Given the description of an element on the screen output the (x, y) to click on. 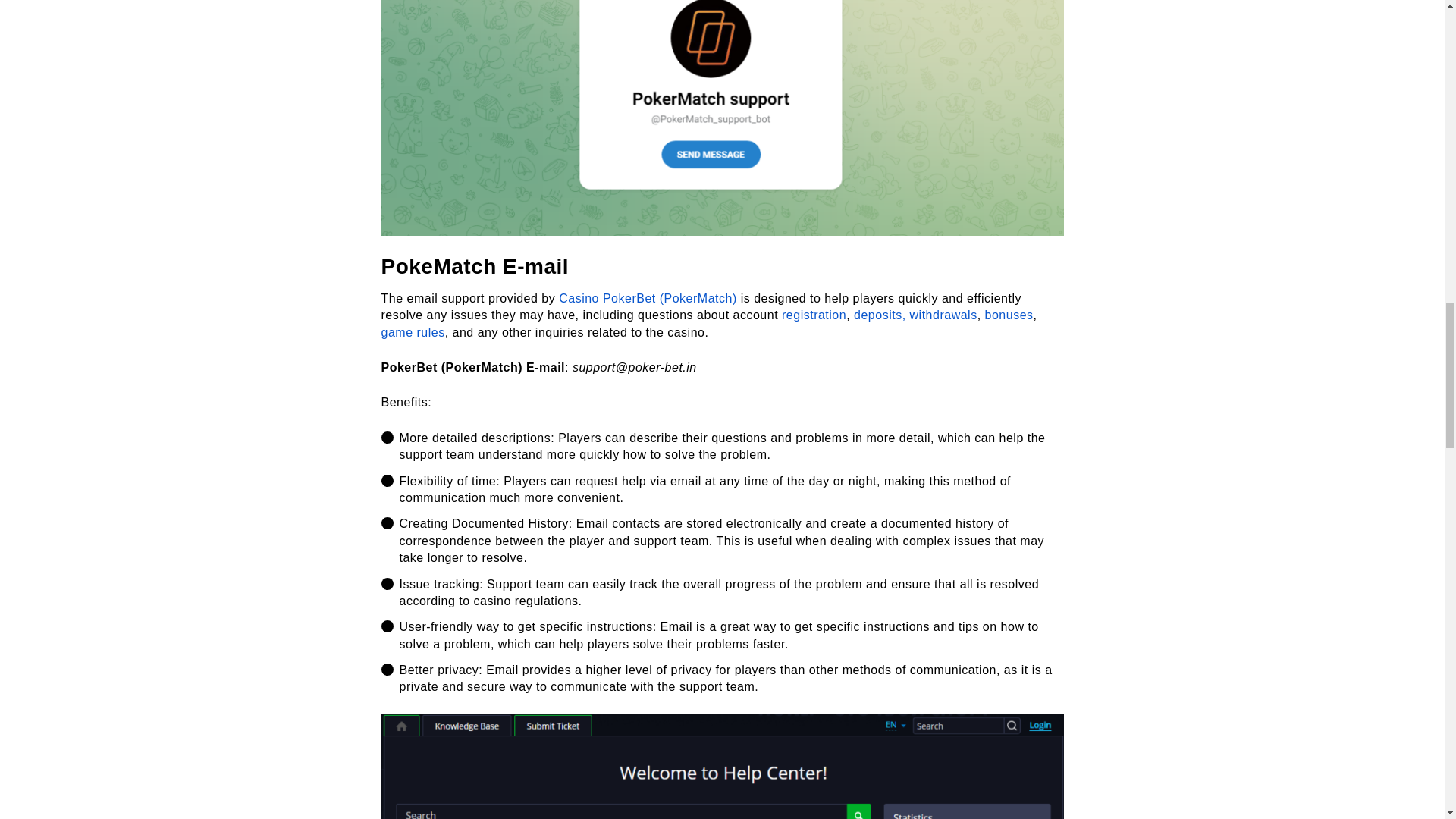
game rules (412, 332)
registration (813, 314)
bonuses (1009, 314)
deposits, withdrawals (914, 314)
